Given the description of an element on the screen output the (x, y) to click on. 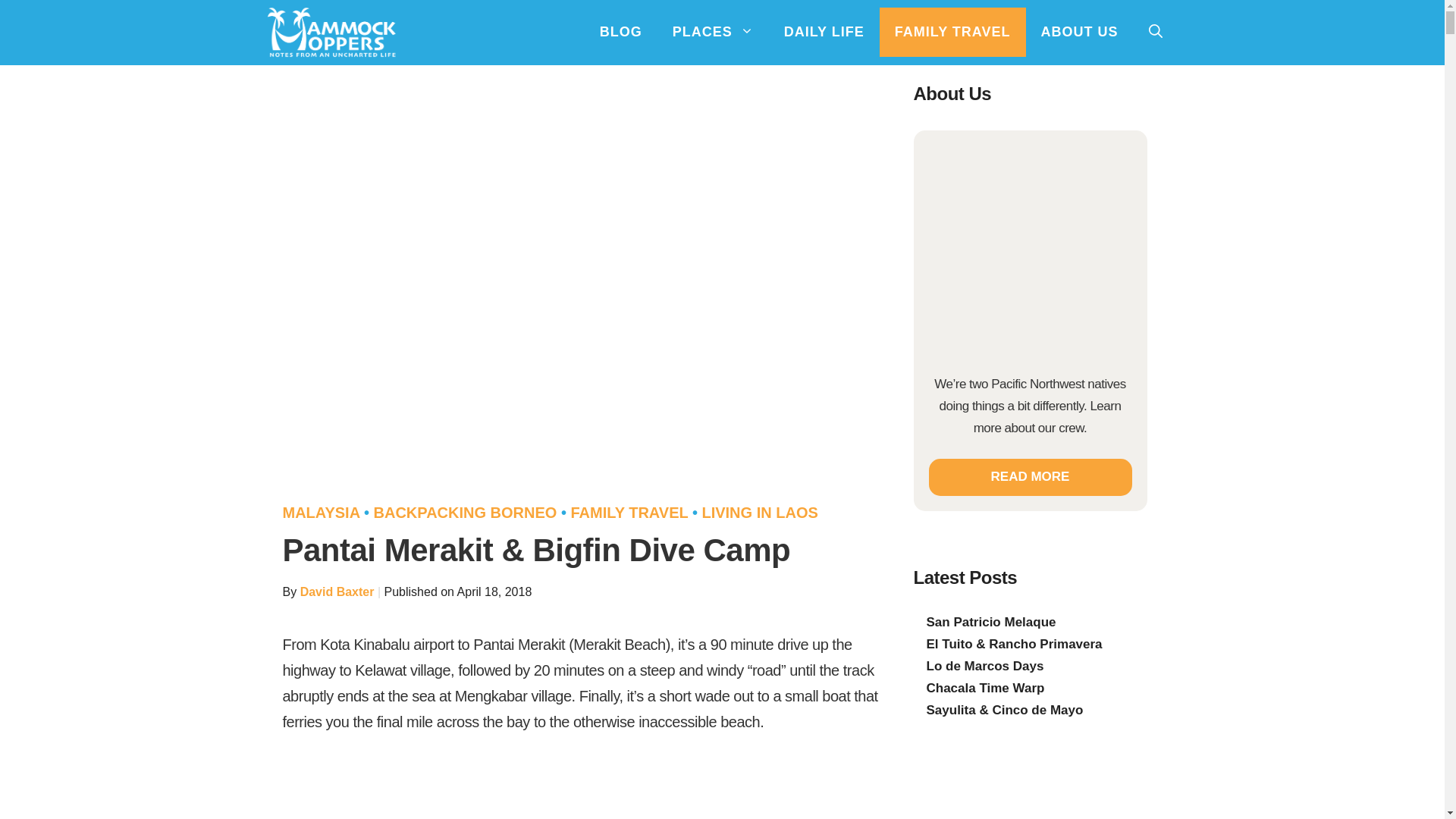
DAILY LIFE (823, 31)
FAMILY TRAVEL (952, 31)
ABOUT US (1078, 31)
PLACES (713, 31)
View all posts by David Baxter (336, 591)
BLOG (621, 31)
